Given the description of an element on the screen output the (x, y) to click on. 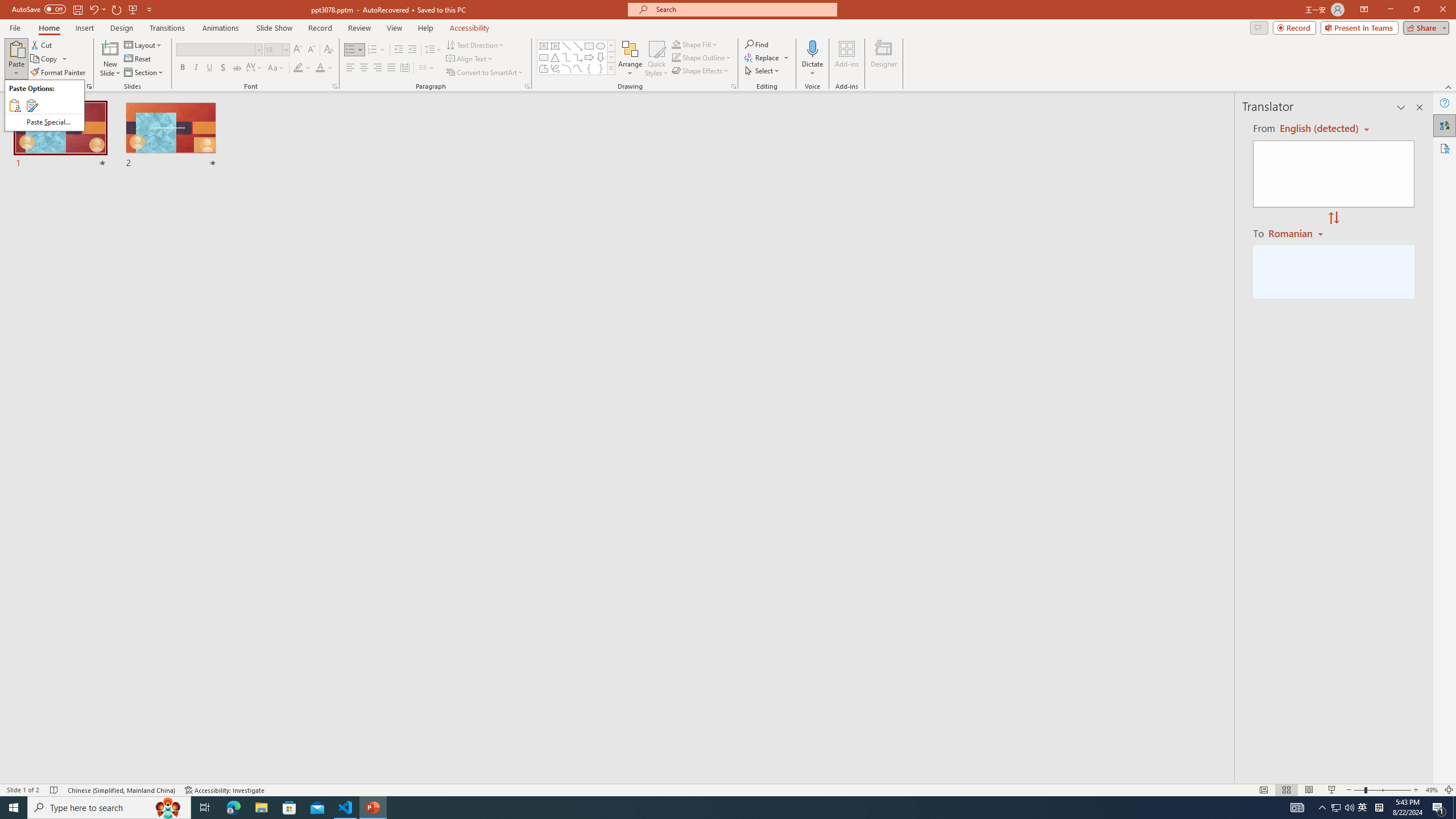
Font Size (276, 49)
Shape Fill (694, 44)
Font Size (273, 49)
Oval (600, 45)
Translator (1444, 125)
Format Painter (58, 72)
Show desktop (1454, 807)
Dictate (812, 58)
Numbering (372, 49)
Font (215, 49)
Text Box (543, 45)
File Explorer (261, 807)
Class: NetUIImage (610, 68)
